Given the description of an element on the screen output the (x, y) to click on. 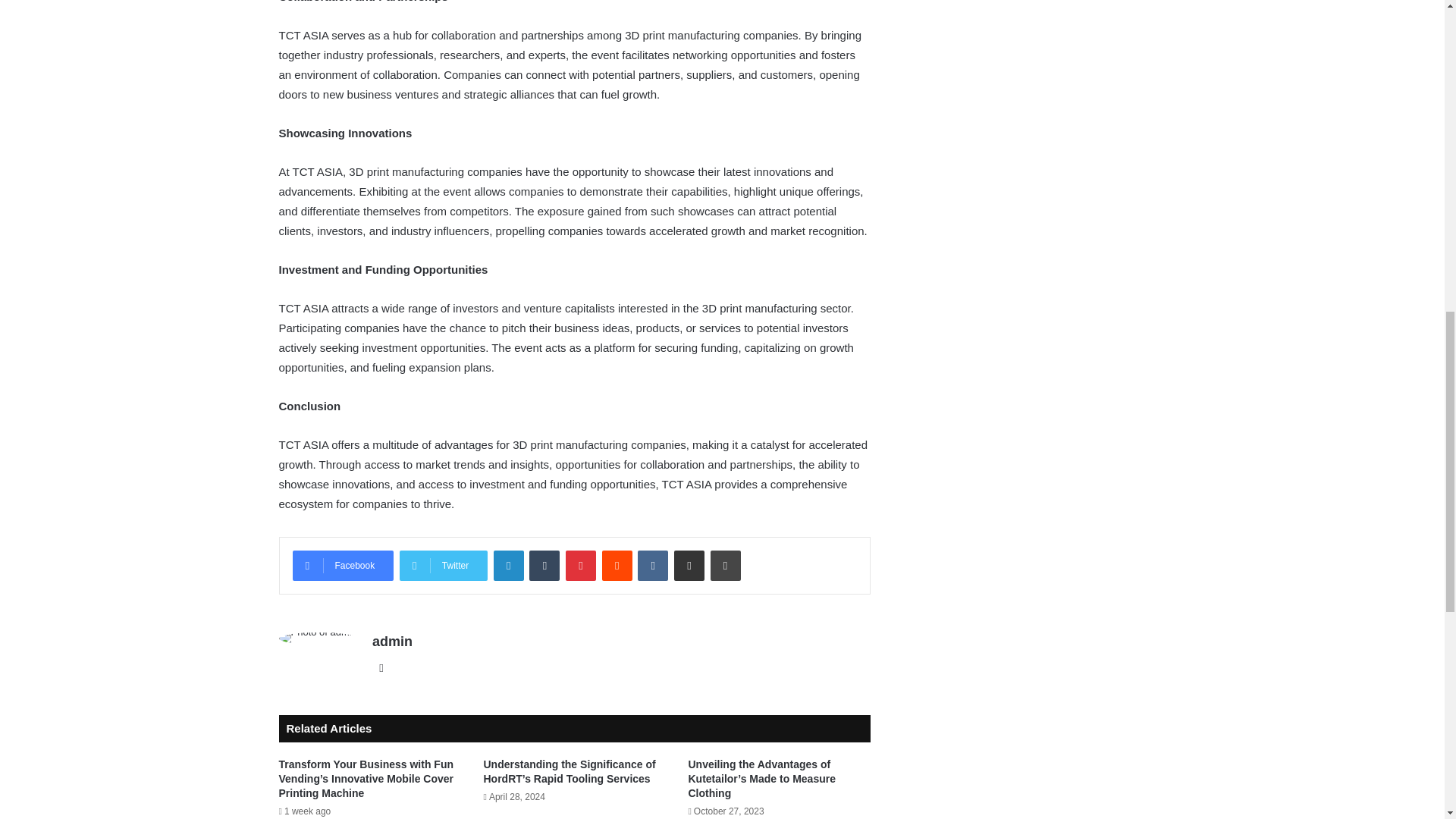
LinkedIn (508, 565)
LinkedIn (508, 565)
Print (725, 565)
Reddit (616, 565)
Share via Email (689, 565)
Tumblr (544, 565)
Twitter (442, 565)
Website (381, 668)
VKontakte (652, 565)
Pinterest (580, 565)
